Given the description of an element on the screen output the (x, y) to click on. 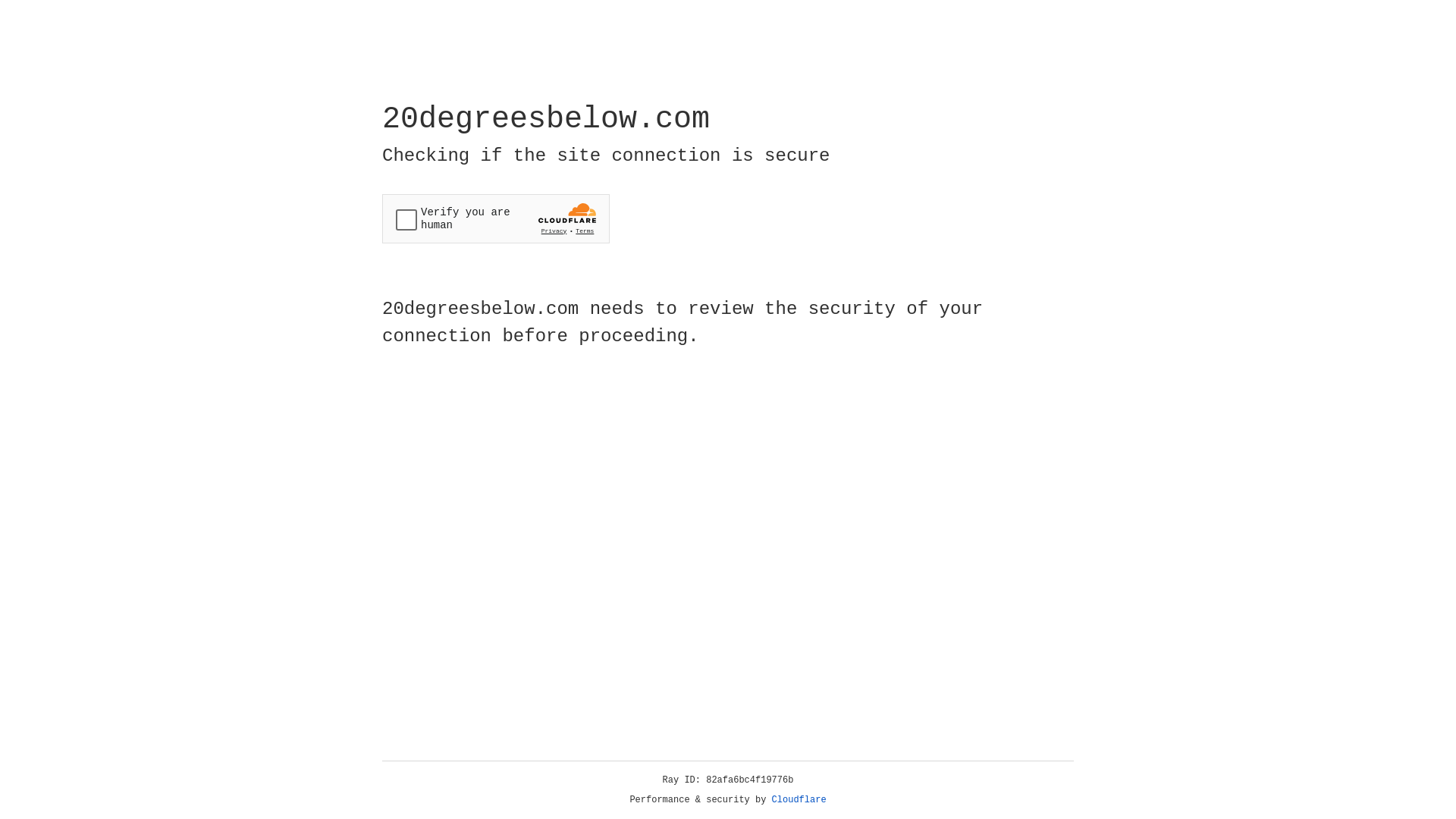
Widget containing a Cloudflare security challenge Element type: hover (495, 218)
Cloudflare Element type: text (798, 799)
